Given the description of an element on the screen output the (x, y) to click on. 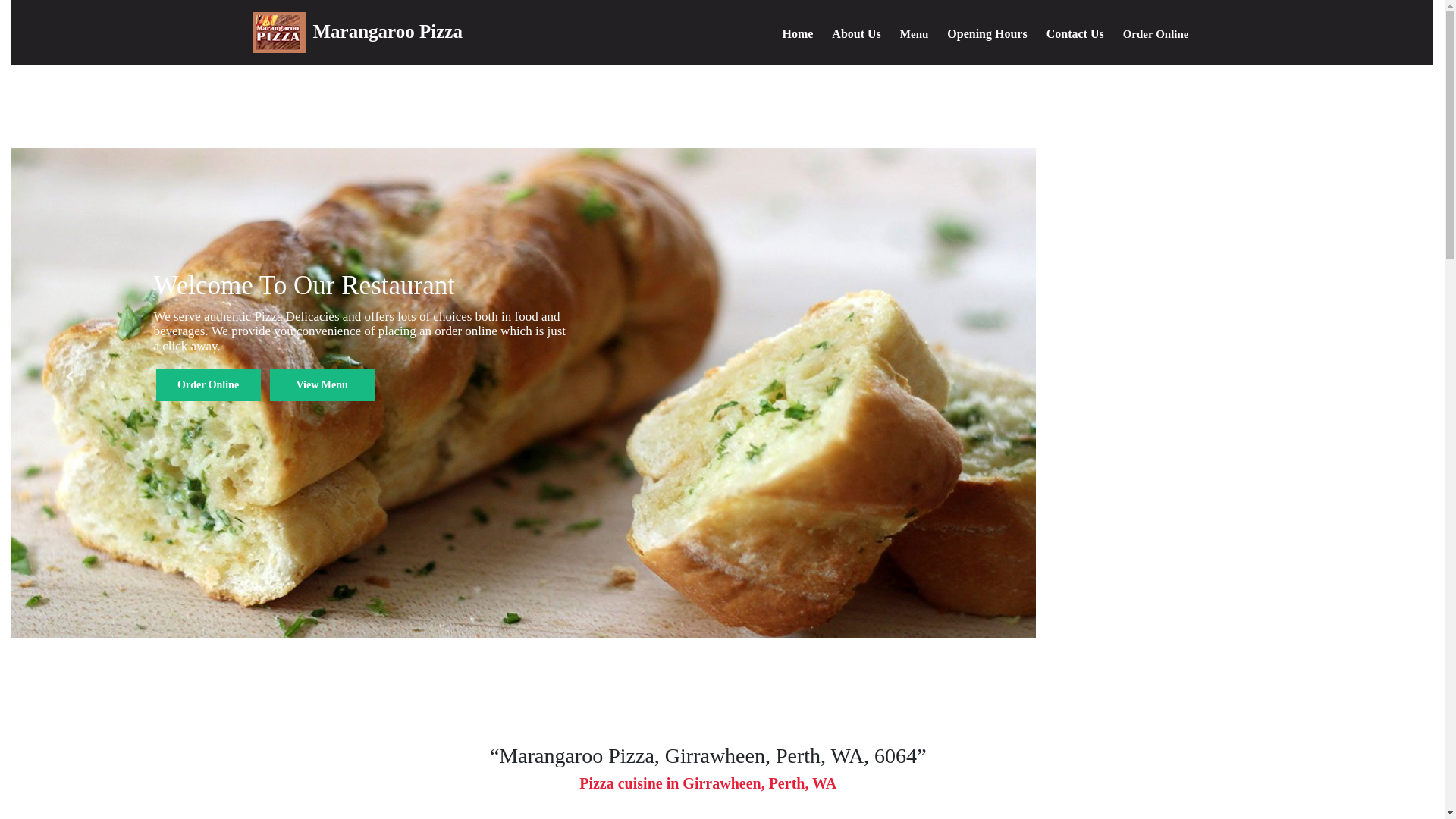
Order Online Element type: text (208, 385)
About Us Element type: text (855, 36)
Opening Hours Element type: text (986, 36)
Order Online Element type: text (1156, 37)
Contact Us Element type: text (1075, 36)
Home Element type: text (796, 36)
Menu Element type: text (914, 37)
View Menu Element type: text (321, 385)
